Given the description of an element on the screen output the (x, y) to click on. 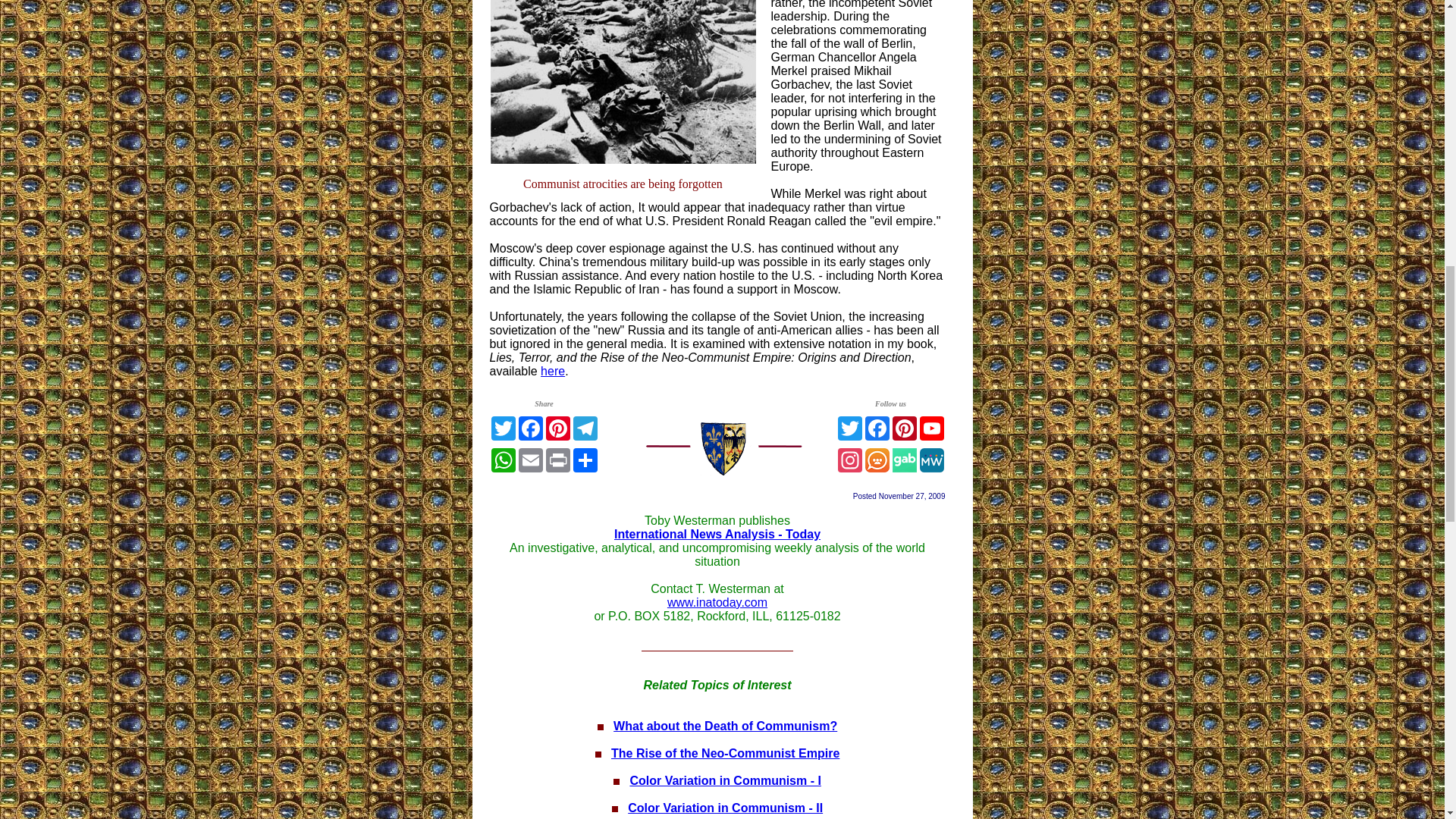
International News Analysis - Today (717, 533)
Color Variation in Communism - I (724, 780)
Pinterest (903, 428)
The Rise of the Neo-Communist Empire (725, 753)
YouTube (930, 428)
Color Variation in Communism - II (724, 807)
Pinterest (558, 428)
Facebook (876, 428)
Instagram (849, 459)
Telegram (585, 428)
Facebook (530, 428)
Twitter (502, 428)
here (552, 370)
Twitter (849, 428)
Print (558, 459)
